Given the description of an element on the screen output the (x, y) to click on. 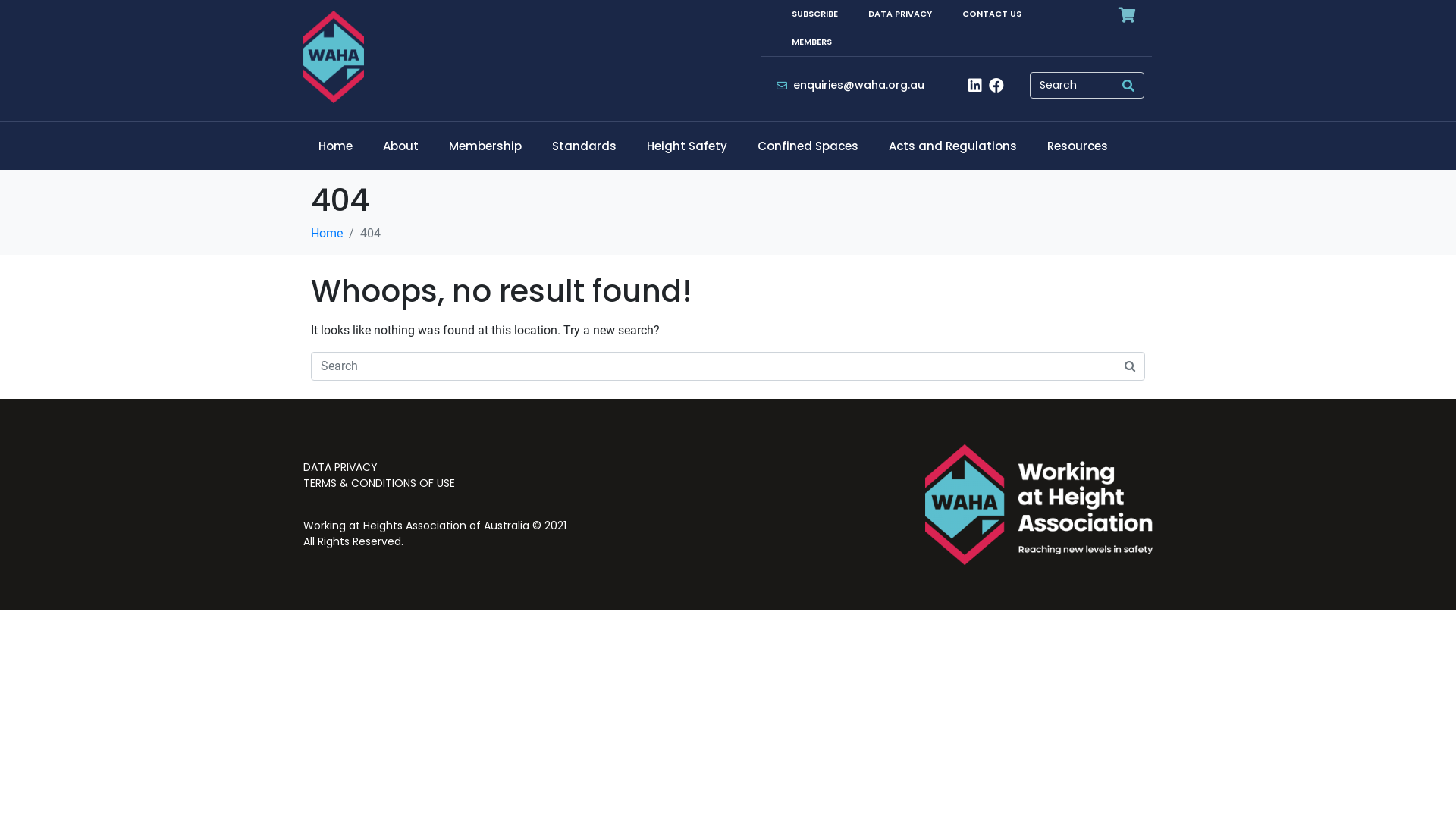
Acts and Regulations Element type: text (952, 145)
Membership Element type: text (484, 145)
Home Element type: text (335, 145)
SUBSCRIBE Element type: text (814, 14)
Resources Element type: text (1077, 145)
DATA PRIVACY Element type: text (511, 467)
About Element type: text (400, 145)
CONTACT US Element type: text (991, 14)
Confined Spaces Element type: text (807, 145)
DATA PRIVACY Element type: text (900, 14)
Standards Element type: text (583, 145)
Height Safety Element type: text (686, 145)
Home Element type: text (326, 232)
MEMBERS Element type: text (811, 42)
